Given the description of an element on the screen output the (x, y) to click on. 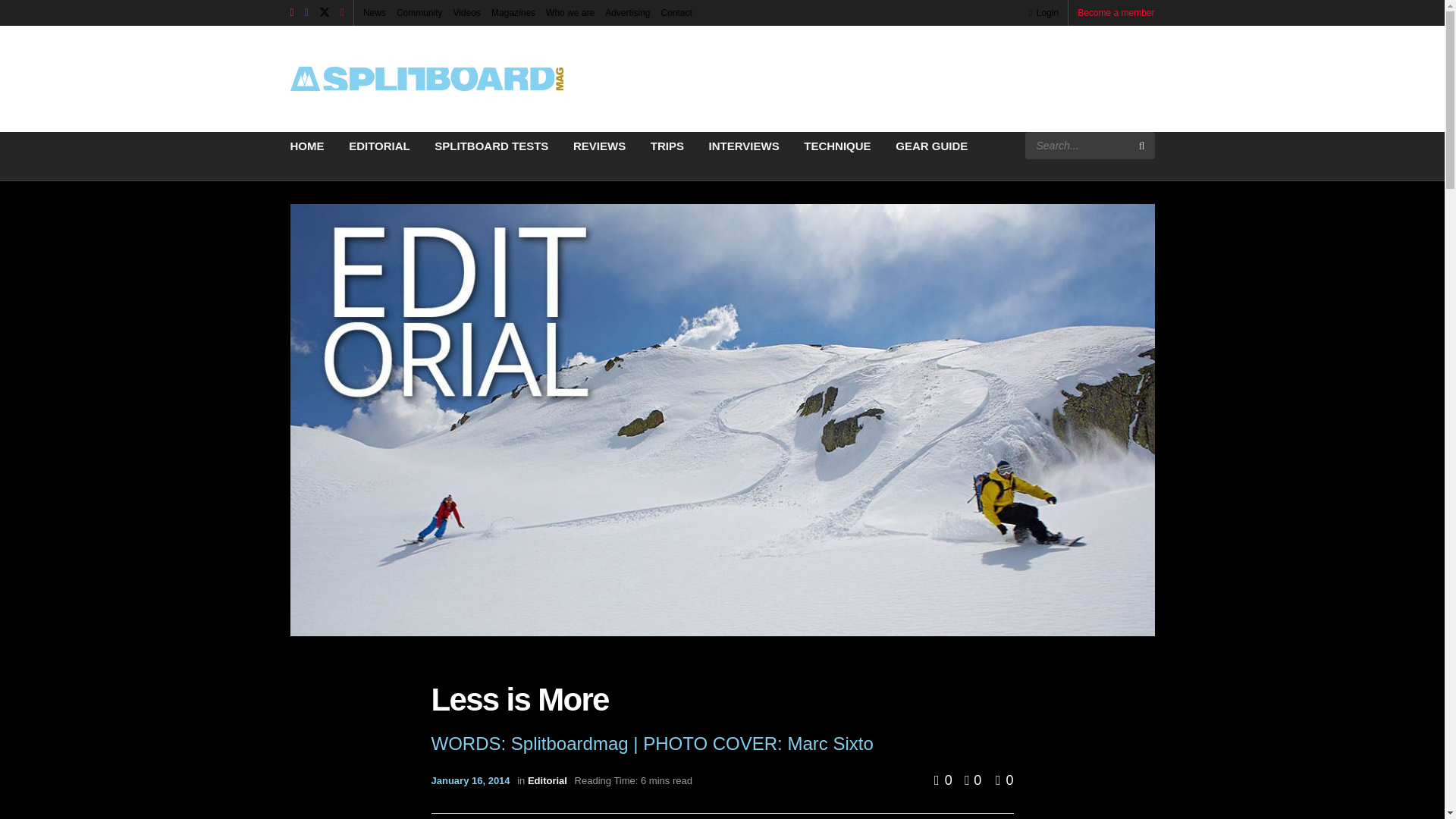
SPLITBOARD TESTS (490, 146)
Contact (677, 12)
Become a member (1115, 12)
GEAR GUIDE (931, 146)
Advertising (627, 12)
Login (1043, 12)
January 16, 2014 (469, 780)
TRIPS (667, 146)
Magazines (513, 12)
TECHNIQUE (836, 146)
